Given the description of an element on the screen output the (x, y) to click on. 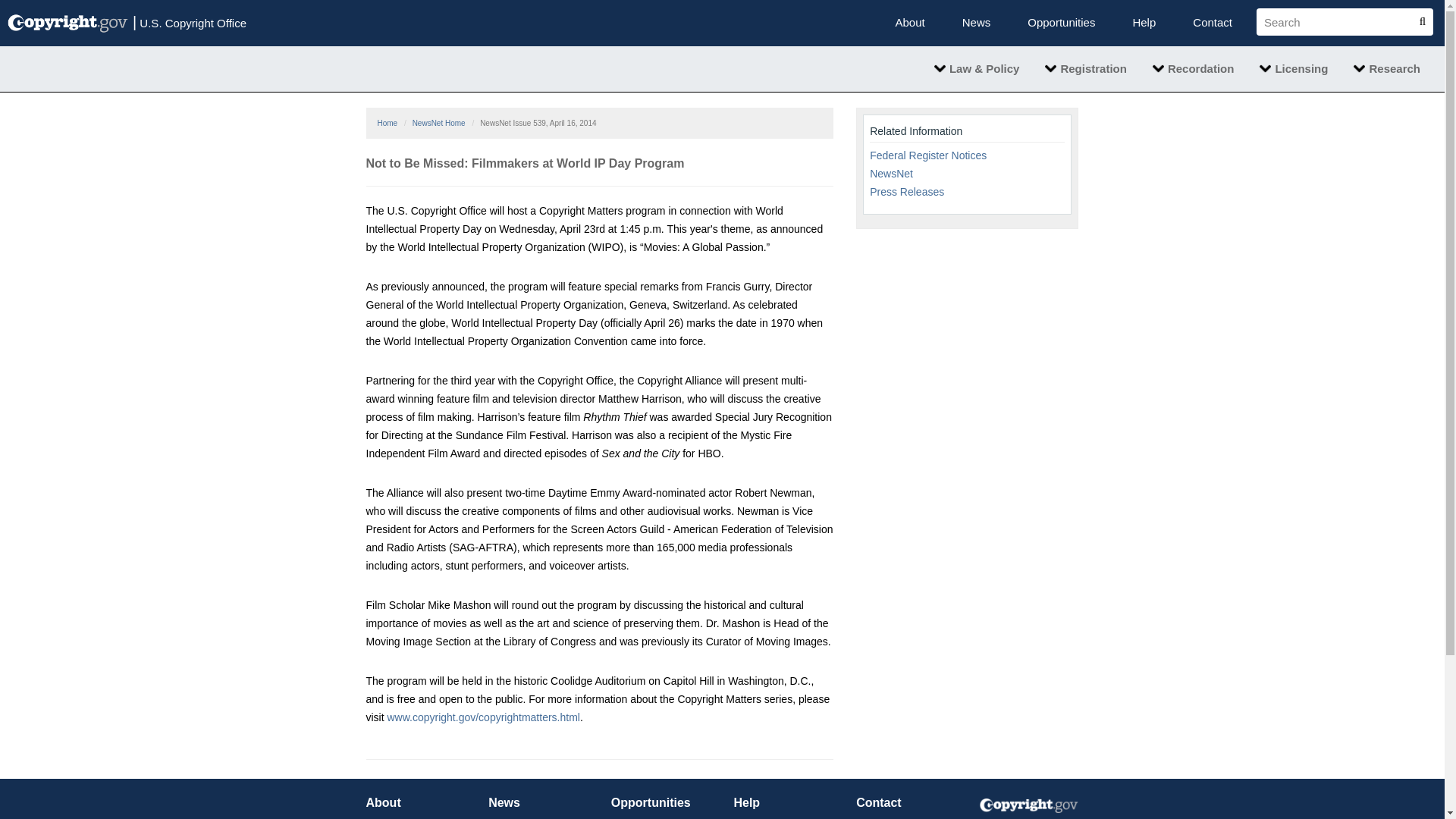
About (909, 22)
Help (1144, 22)
Registration (1086, 68)
News (976, 22)
Search Copyright.gov (1338, 22)
Contact (1211, 22)
Opportunities (1061, 22)
